Given the description of an element on the screen output the (x, y) to click on. 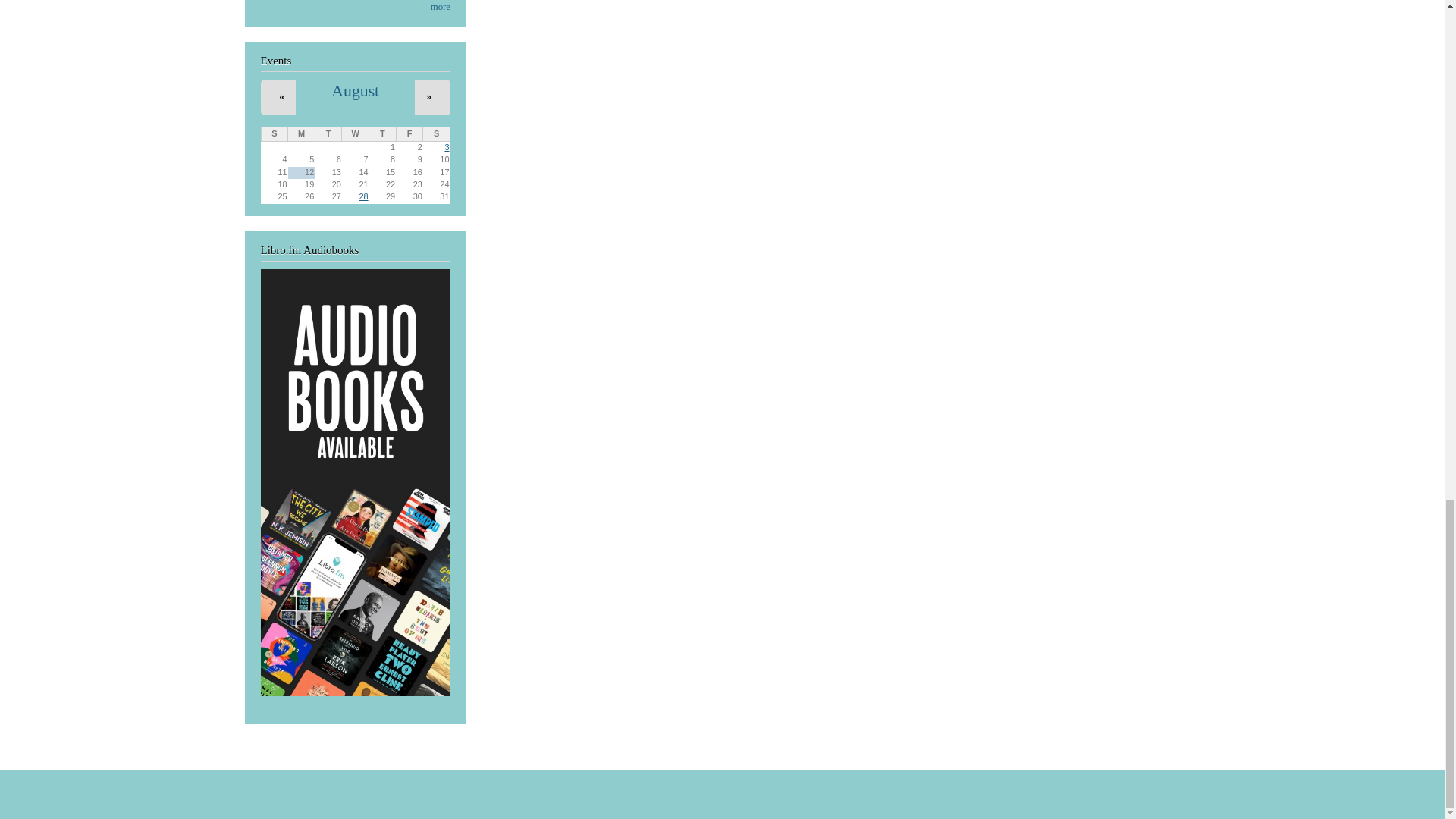
Navigate to previous month (282, 97)
more (439, 6)
View full page month (354, 90)
Navigate to next month (428, 97)
August (354, 90)
28 (363, 195)
